Given the description of an element on the screen output the (x, y) to click on. 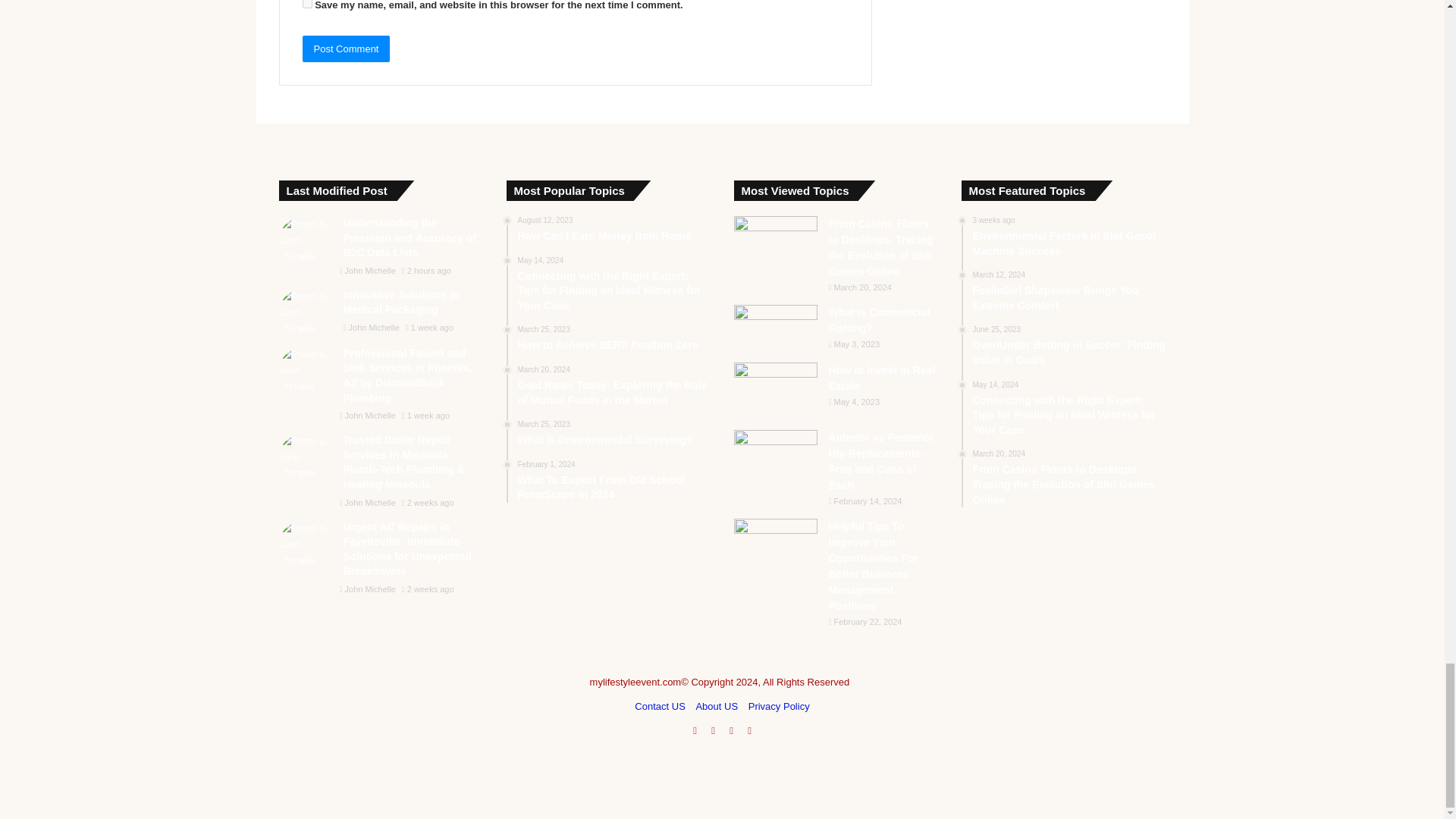
yes (306, 4)
Post Comment (345, 49)
